Given the description of an element on the screen output the (x, y) to click on. 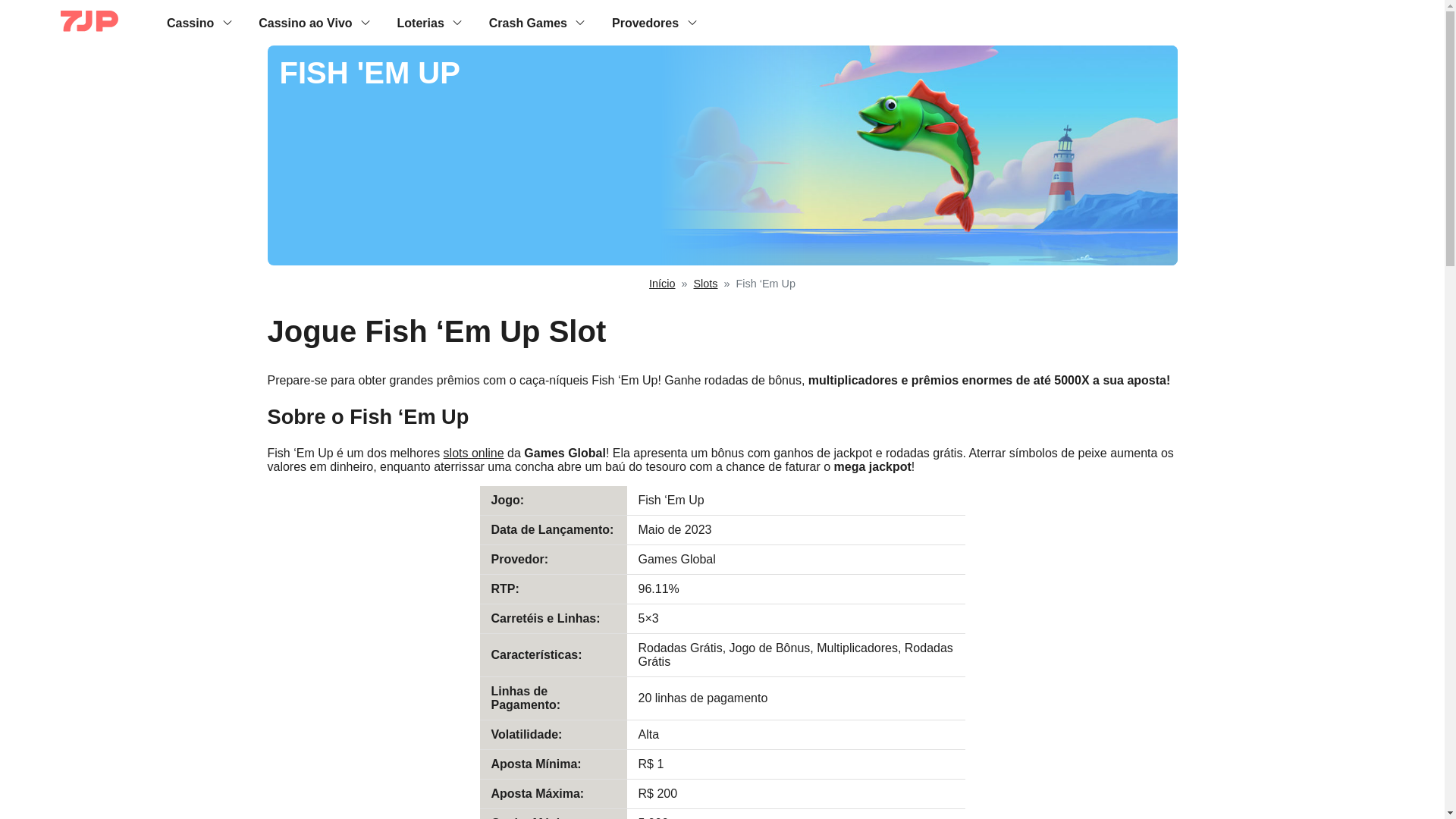
Cassino (190, 22)
Loterias (420, 22)
Cassino ao Vivo (305, 22)
Crash Games (528, 22)
